Given the description of an element on the screen output the (x, y) to click on. 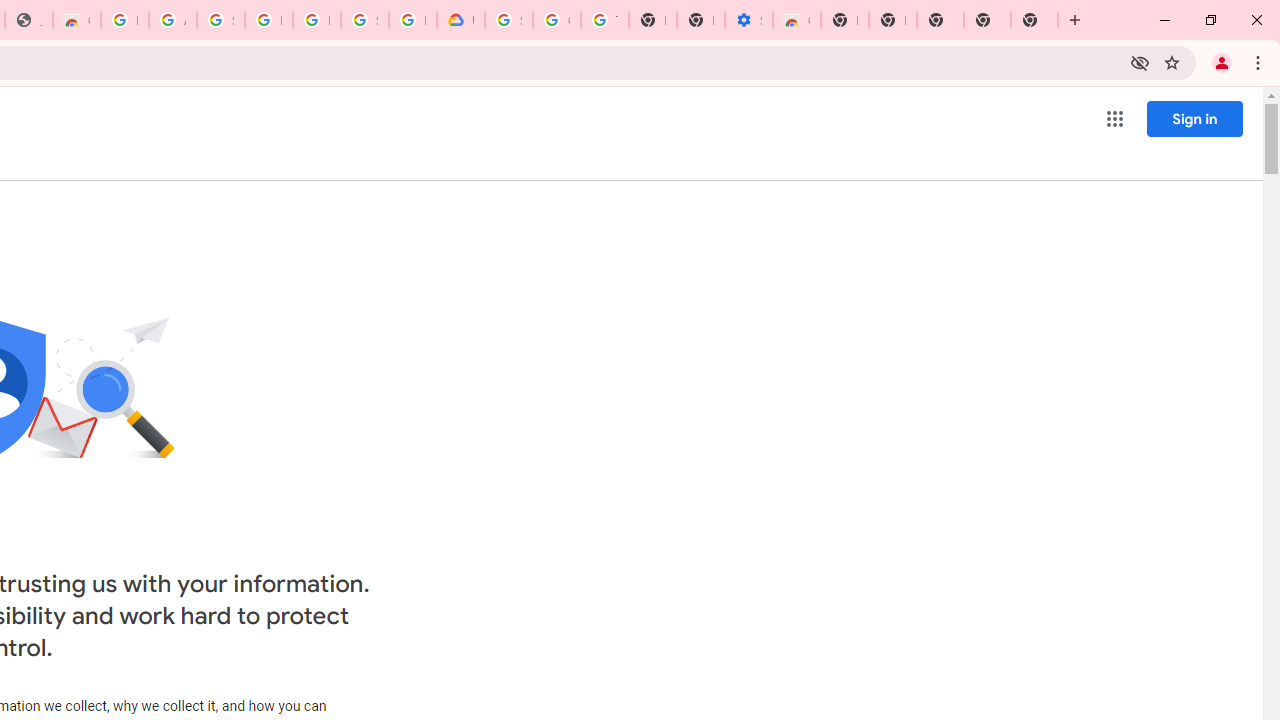
Settings - Accessibility (748, 20)
Ad Settings (172, 20)
Sign in - Google Accounts (364, 20)
New Tab (844, 20)
Sign in - Google Accounts (508, 20)
Google Account Help (556, 20)
Sign in - Google Accounts (220, 20)
